Given the description of an element on the screen output the (x, y) to click on. 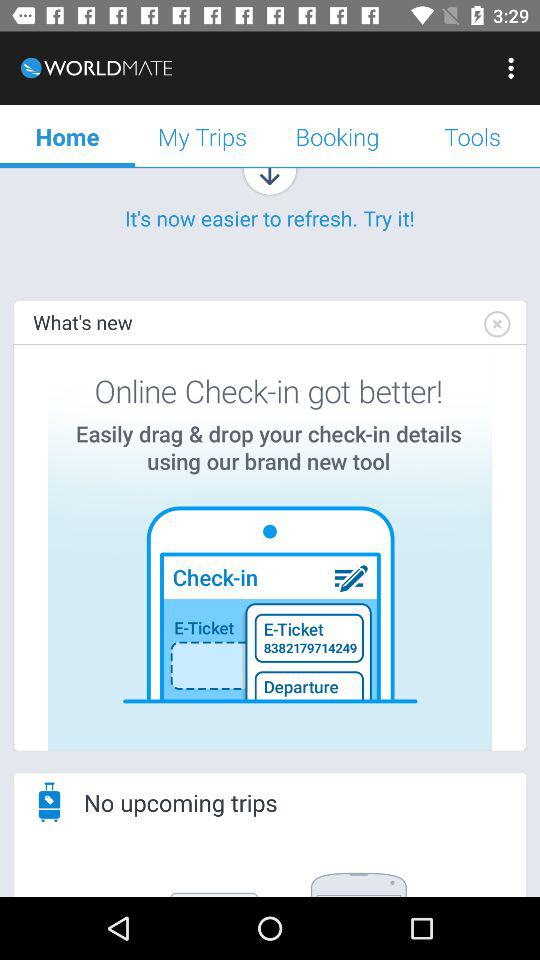
open the my trips (202, 136)
